Given the description of an element on the screen output the (x, y) to click on. 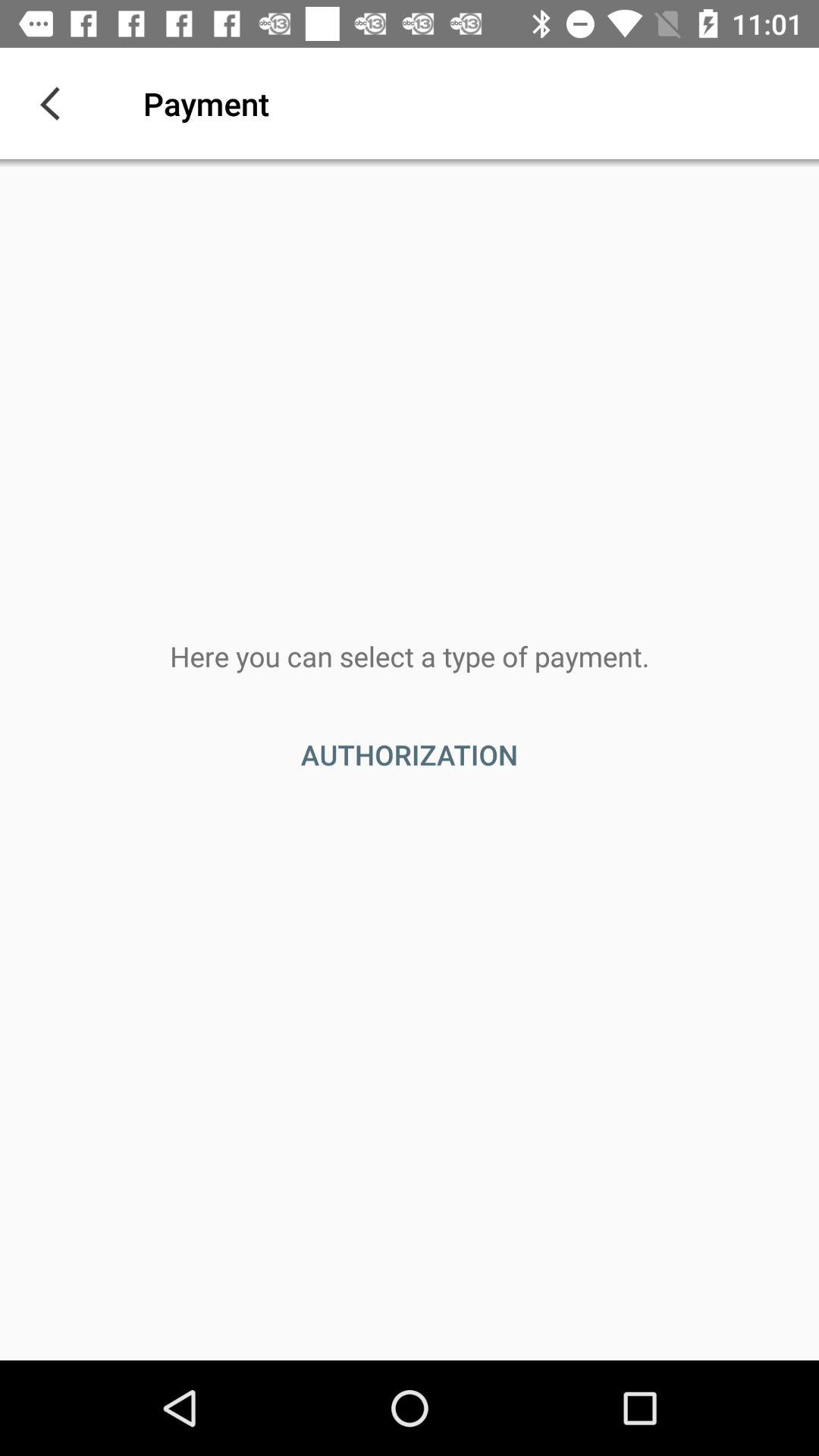
jump to the authorization (409, 754)
